Given the description of an element on the screen output the (x, y) to click on. 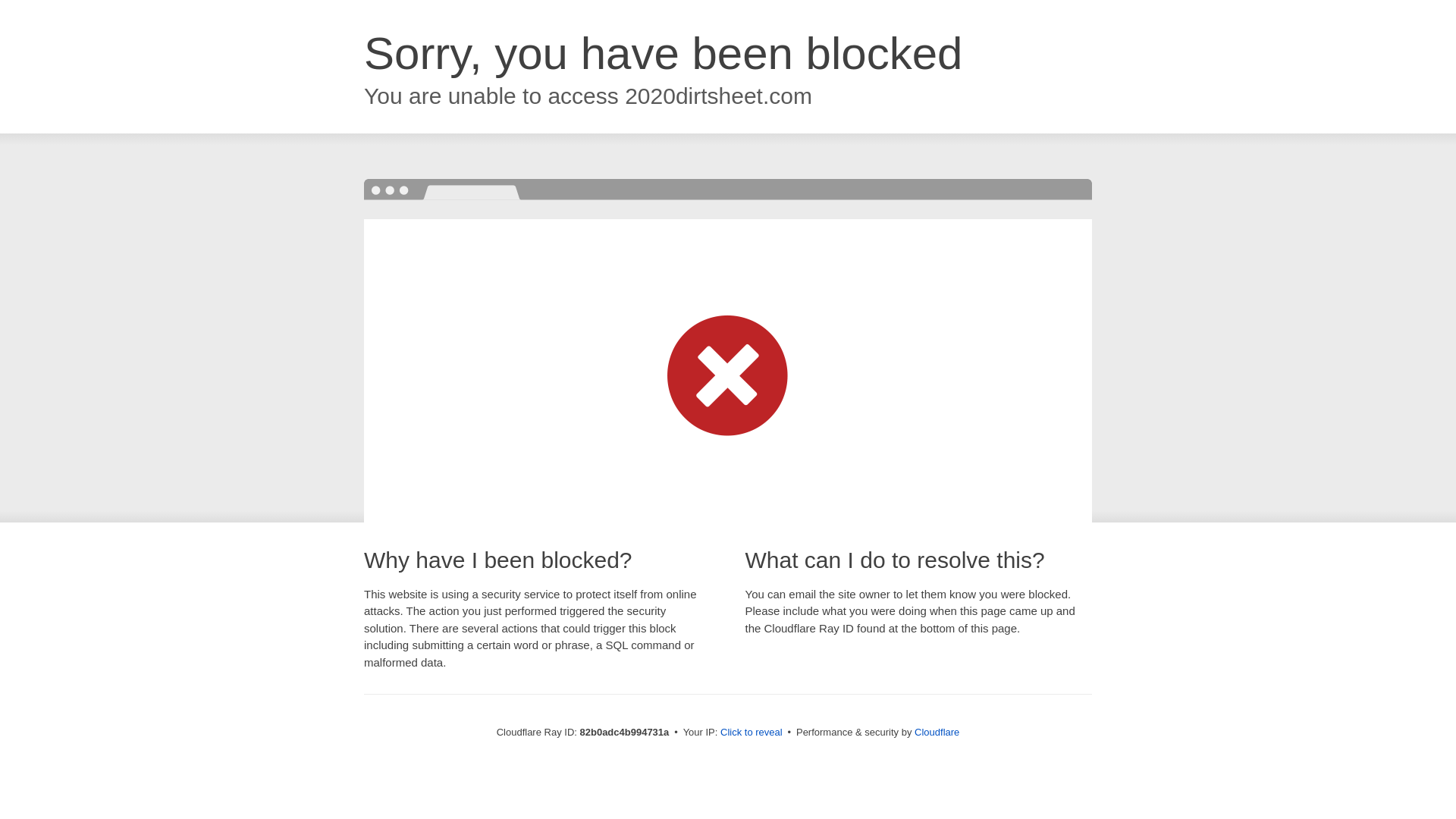
Click to reveal Element type: text (751, 732)
Cloudflare Element type: text (936, 731)
